Given the description of an element on the screen output the (x, y) to click on. 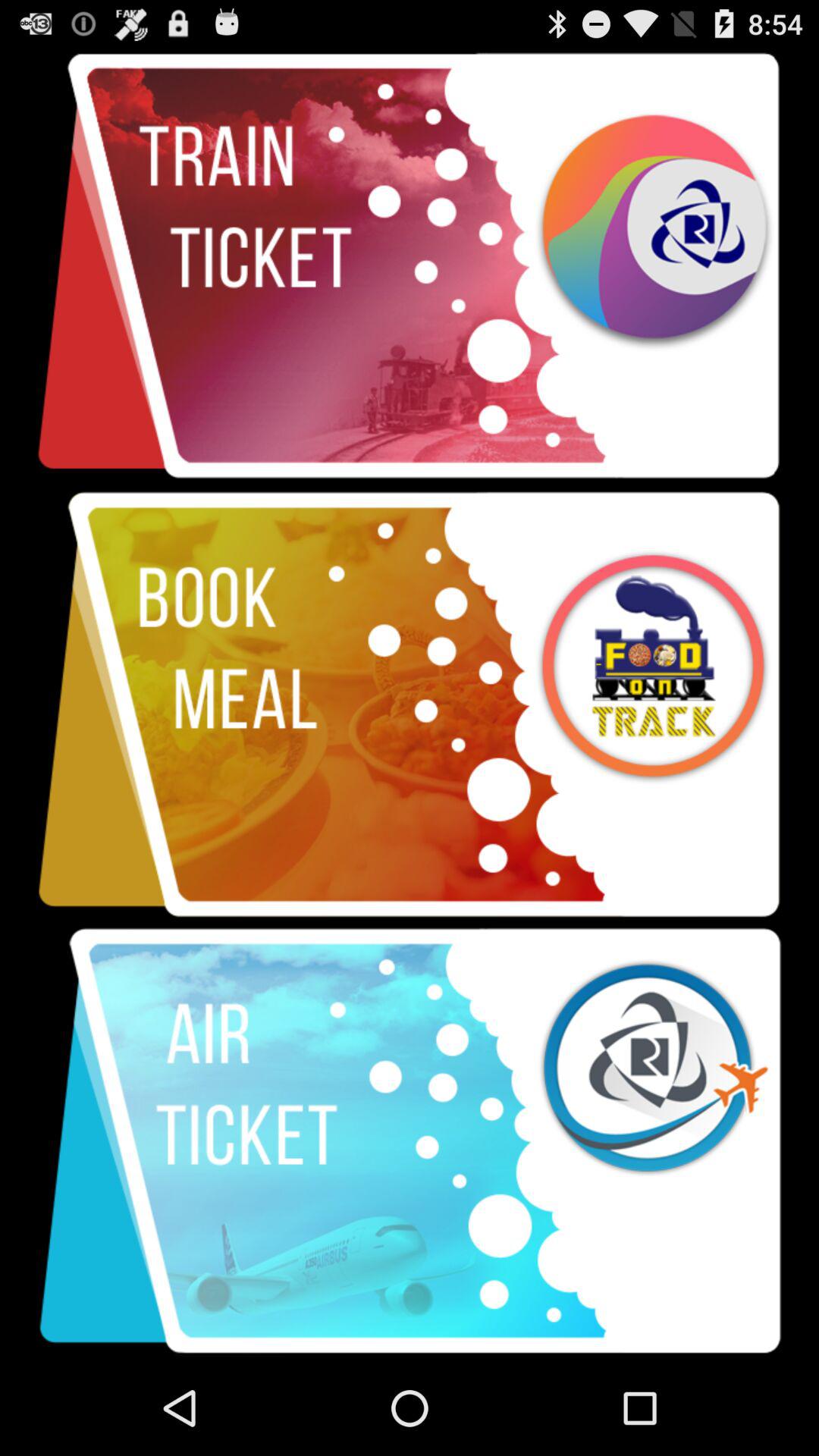
select train ticket option (409, 266)
